Given the description of an element on the screen output the (x, y) to click on. 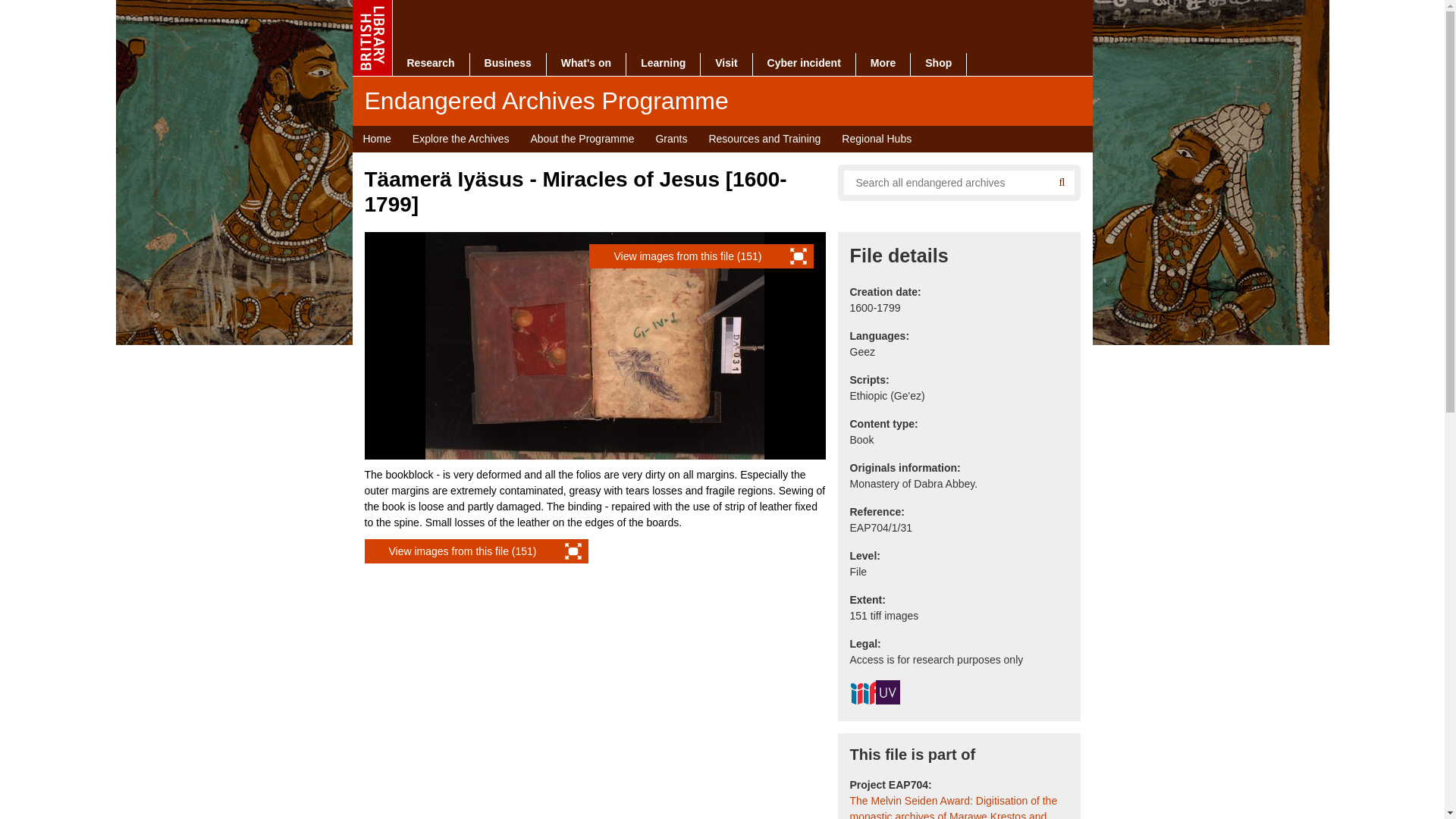
Research (430, 64)
Information about grants we award (671, 139)
Resources and Training (764, 139)
About the Programme (582, 139)
Explore the Archives (460, 139)
Grants (671, 139)
Explore EAP projects and collections (460, 139)
Home (376, 139)
Regional Hubs (876, 139)
Visit (725, 64)
Cyber incident (804, 64)
Business (508, 64)
Search (1061, 182)
